Given the description of an element on the screen output the (x, y) to click on. 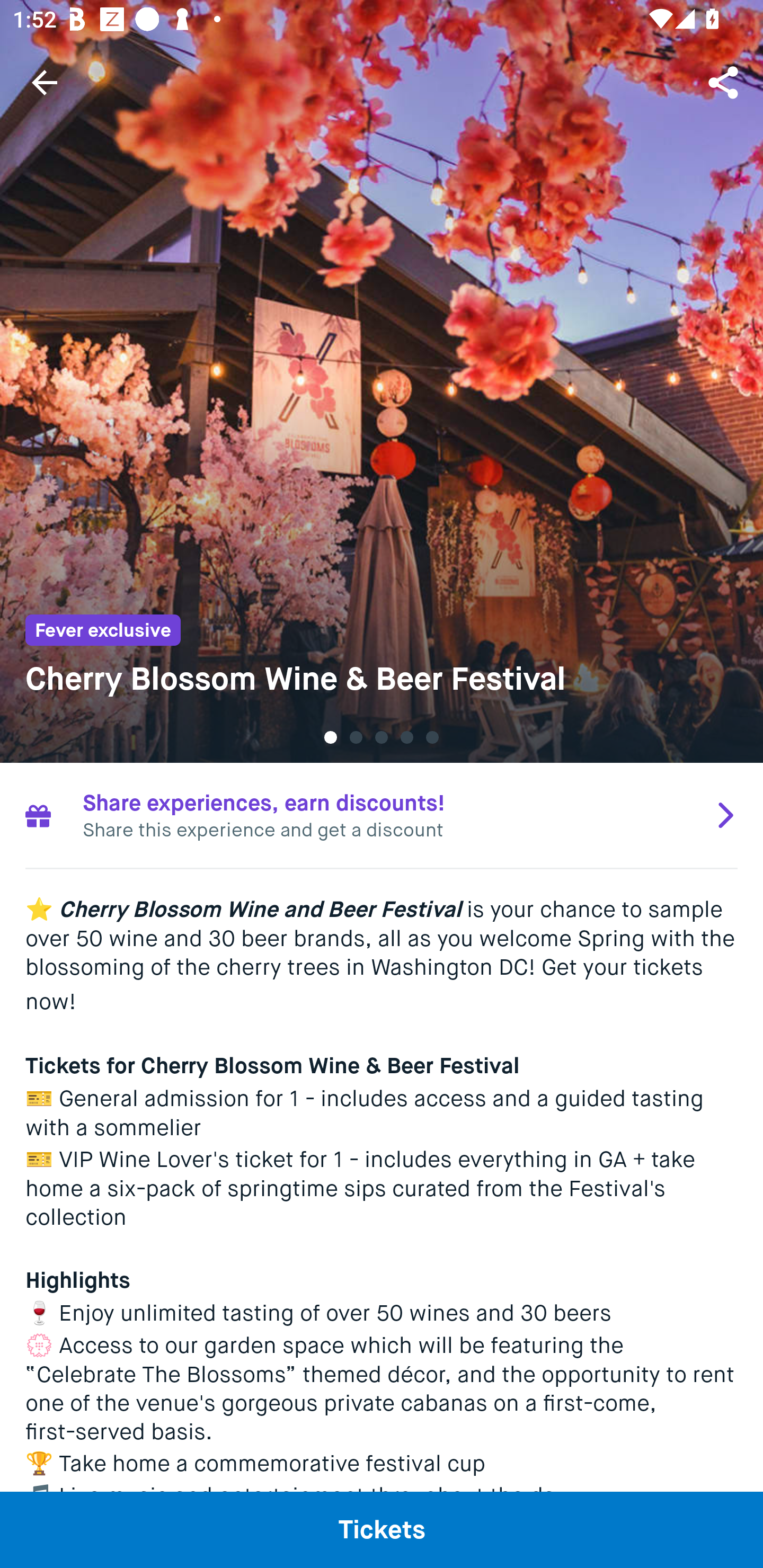
Navigate up (44, 82)
Share (724, 81)
Tickets (381, 1529)
